Given the description of an element on the screen output the (x, y) to click on. 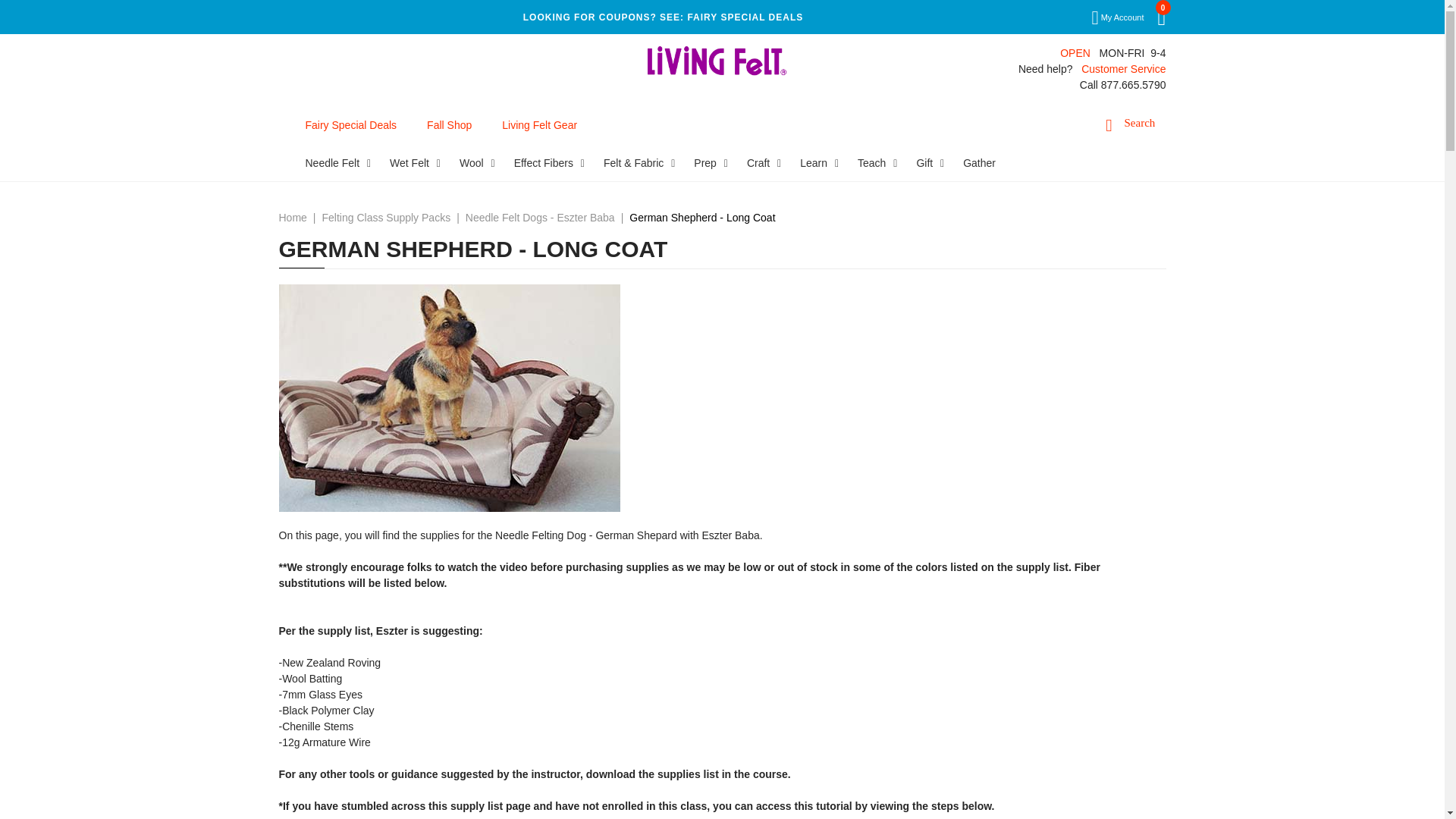
Customer Service (1123, 69)
FAIRY SPECIAL DEALS (745, 17)
Living Felt - Felting Supplies (716, 60)
home (716, 60)
